Given the description of an element on the screen output the (x, y) to click on. 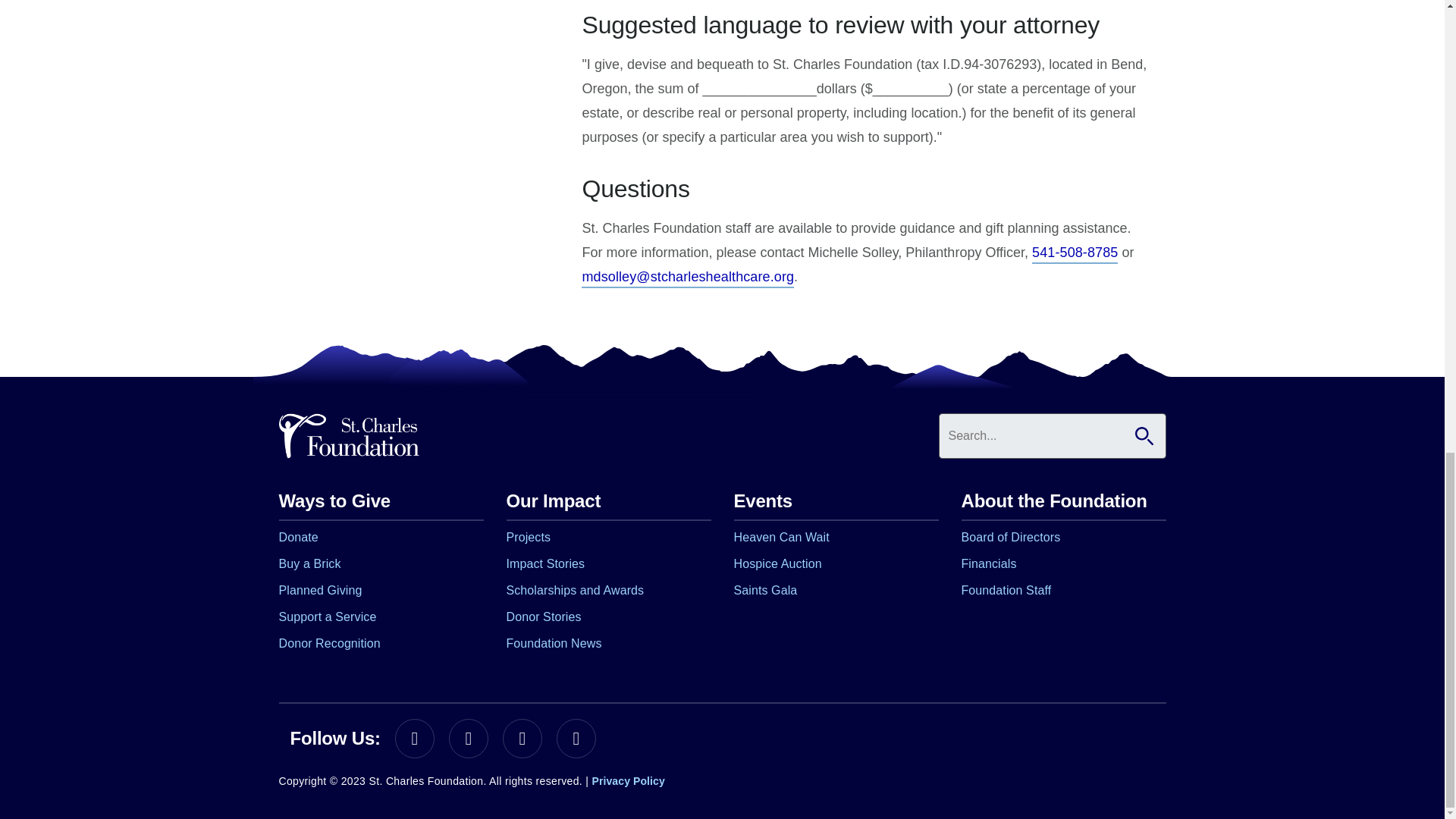
St. Charles Health System (349, 437)
Buy a Brick (309, 565)
Planned Giving (320, 591)
Donate (298, 538)
